Given the description of an element on the screen output the (x, y) to click on. 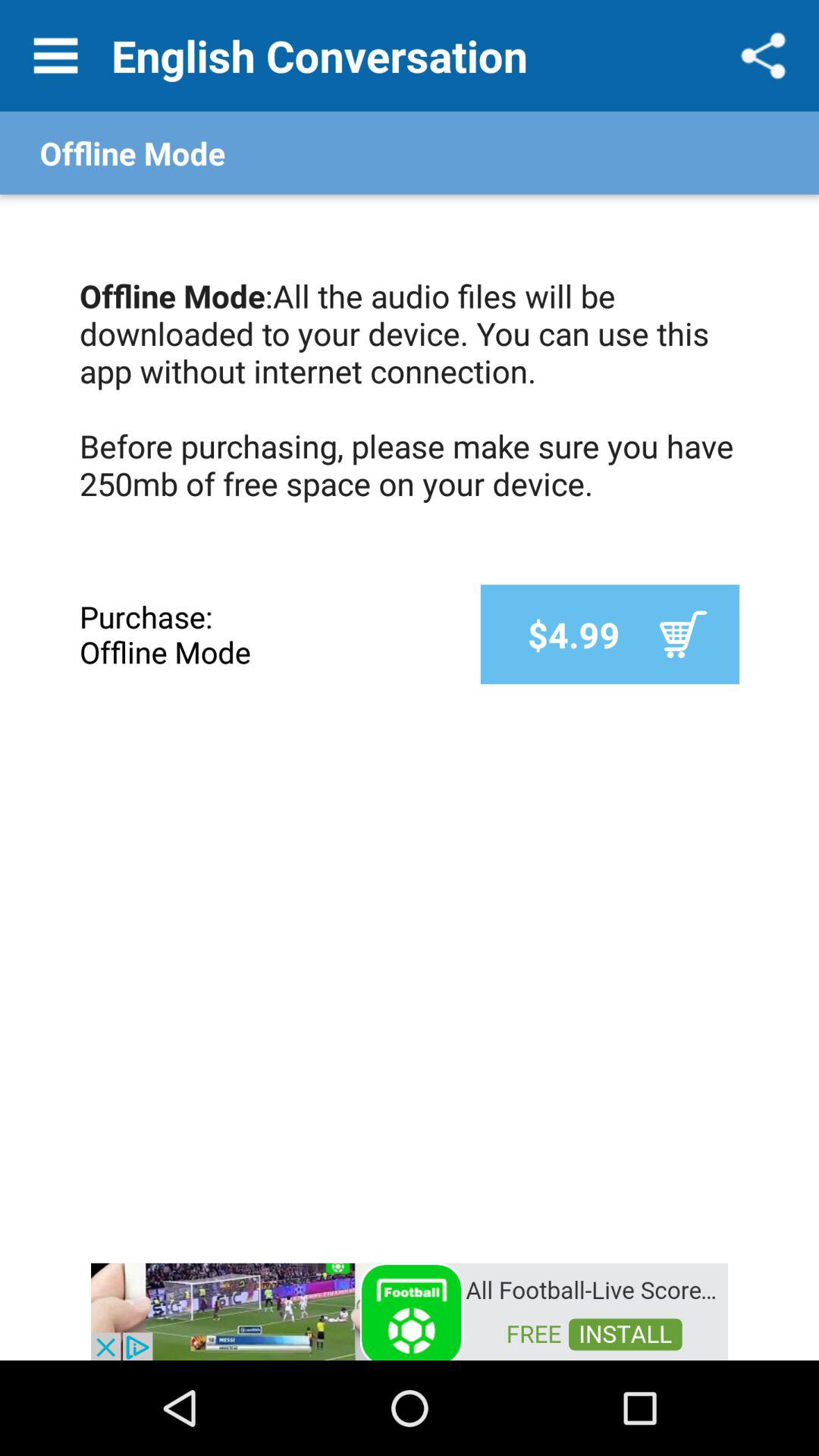
access advertising (409, 1310)
